Given the description of an element on the screen output the (x, y) to click on. 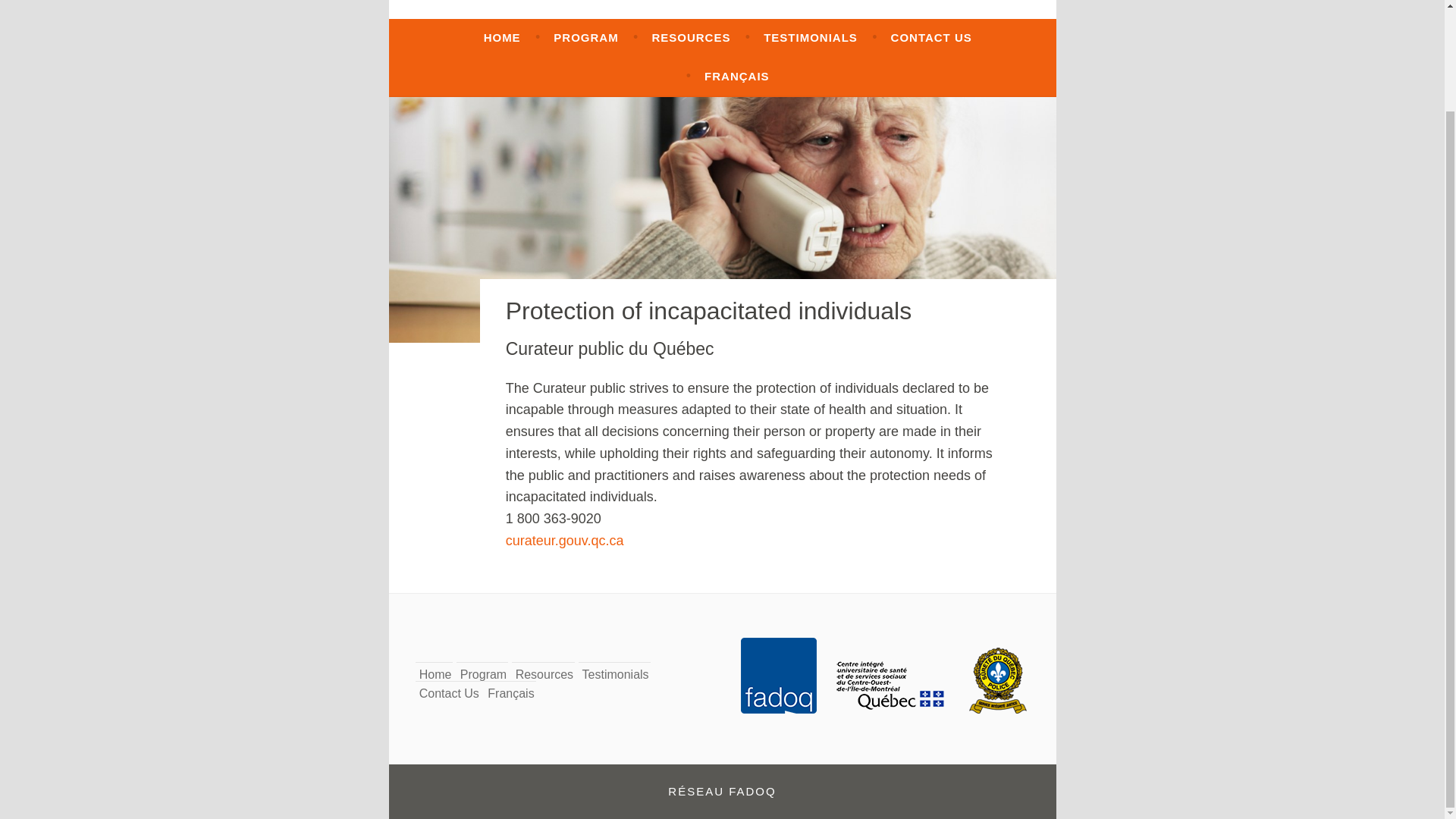
CONTACT US (931, 37)
Testimonials (615, 674)
Contact Us (449, 693)
RESOURCES (690, 37)
Home (435, 674)
Resources (544, 674)
HOME (502, 37)
Program (483, 674)
TESTIMONIALS (809, 37)
PROGRAM (585, 37)
curateur.gouv.qc.ca (564, 540)
